Given the description of an element on the screen output the (x, y) to click on. 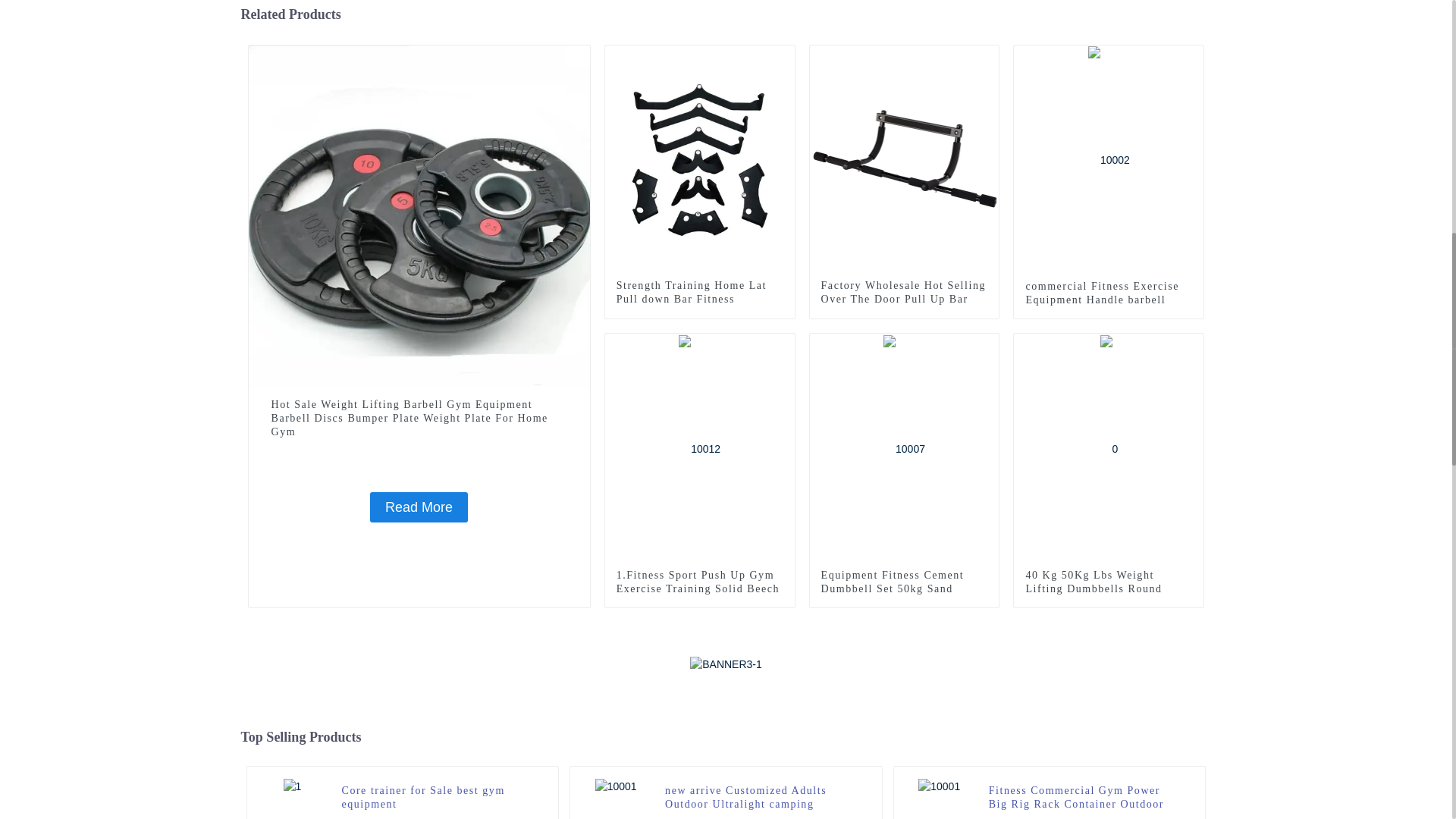
Read More (418, 507)
10001 (986, 56)
10007 (986, 344)
